Given the description of an element on the screen output the (x, y) to click on. 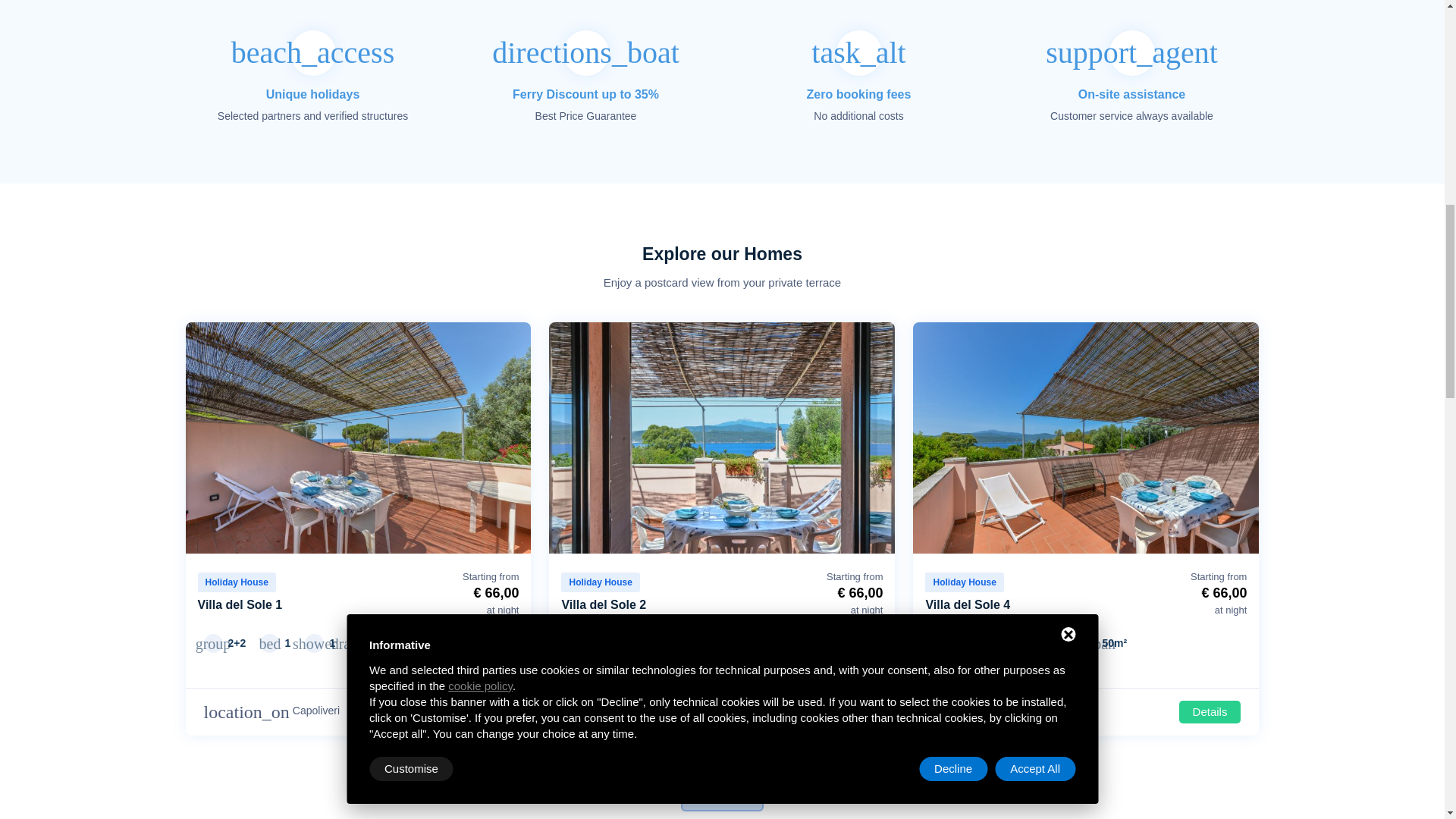
Villa del Sole 2 (603, 604)
Details (482, 712)
Previous (200, 440)
Next (879, 440)
Previous (564, 440)
Villa del Sole 1 (239, 604)
Next (515, 440)
